Given the description of an element on the screen output the (x, y) to click on. 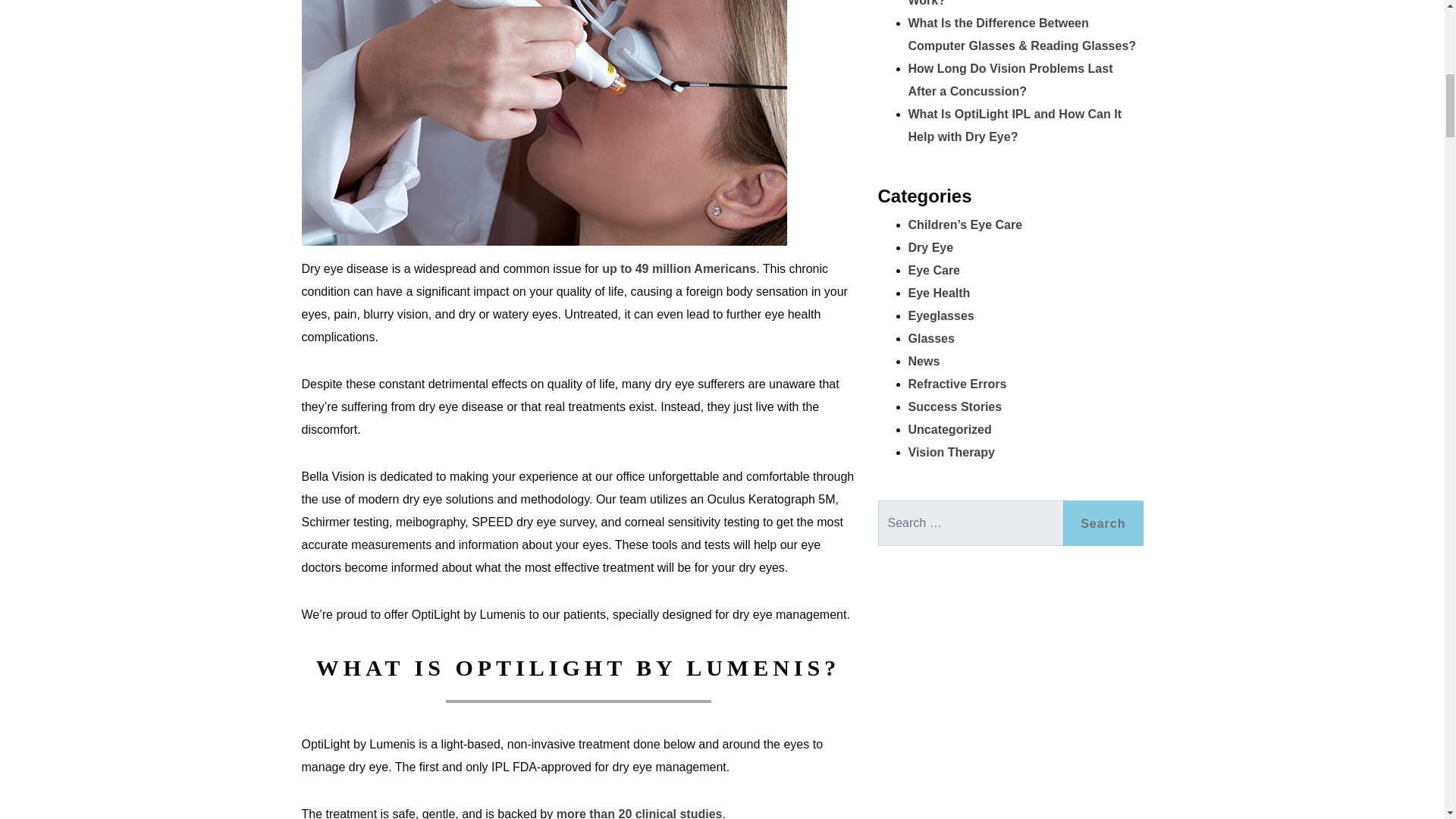
up to 49 million Americans (678, 268)
more than 20 clinical studies (639, 813)
Search (1102, 523)
